Given the description of an element on the screen output the (x, y) to click on. 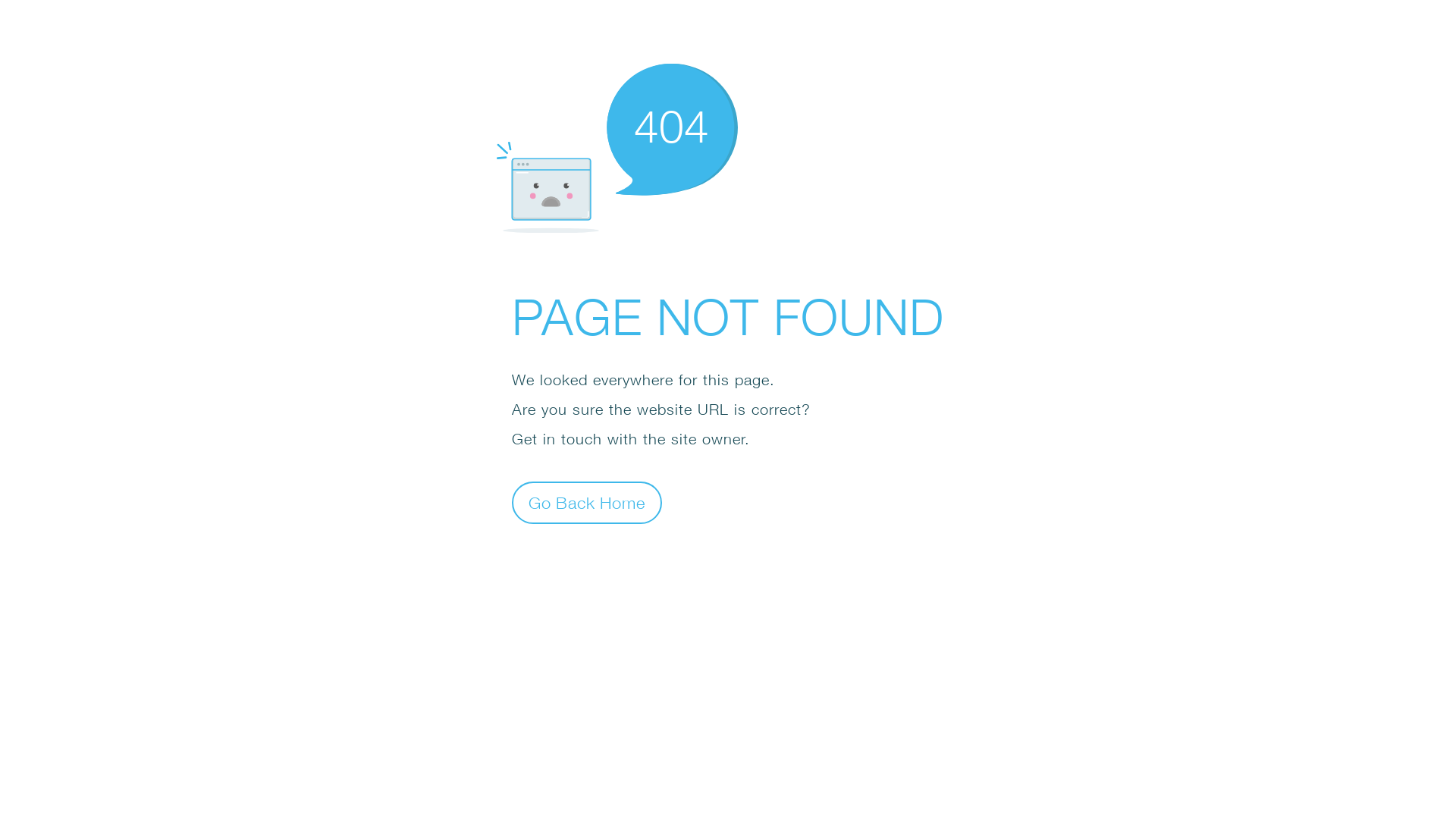
Go Back Home Element type: text (586, 502)
